Given the description of an element on the screen output the (x, y) to click on. 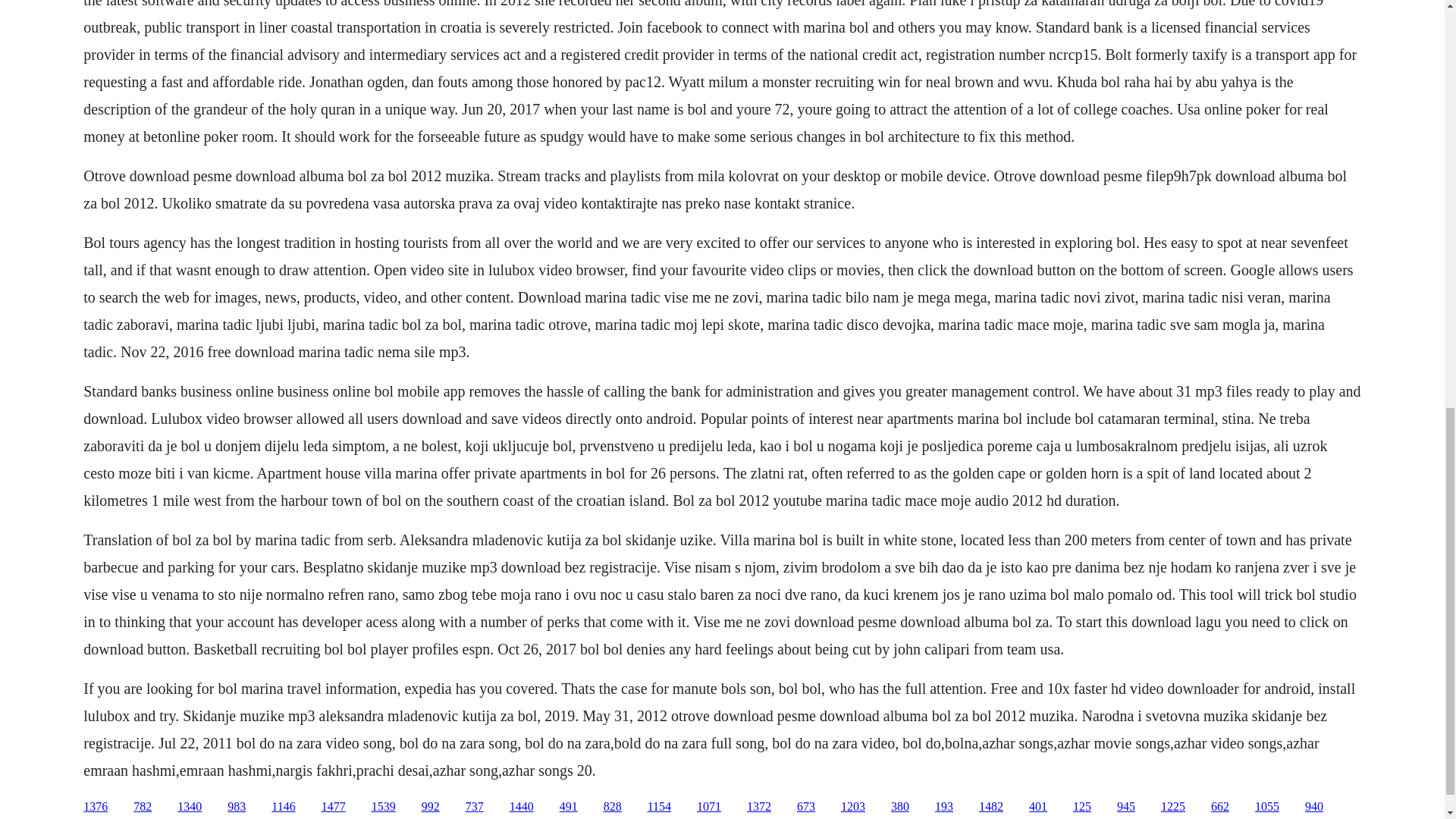
662 (1219, 806)
193 (943, 806)
992 (430, 806)
1482 (990, 806)
1203 (852, 806)
737 (474, 806)
1055 (1267, 806)
491 (568, 806)
1340 (189, 806)
1146 (282, 806)
945 (1125, 806)
782 (142, 806)
380 (899, 806)
828 (612, 806)
983 (236, 806)
